Given the description of an element on the screen output the (x, y) to click on. 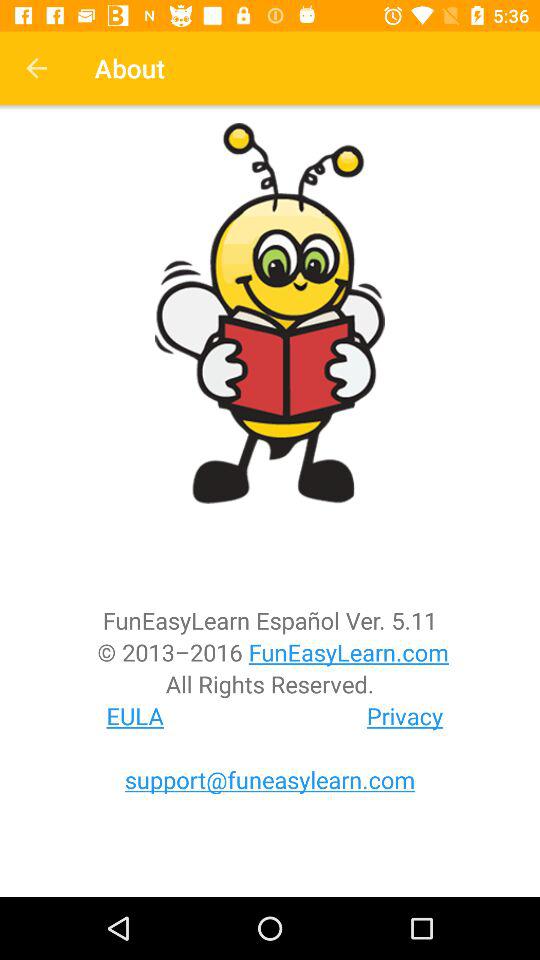
turn off item to the left of about (36, 68)
